Given the description of an element on the screen output the (x, y) to click on. 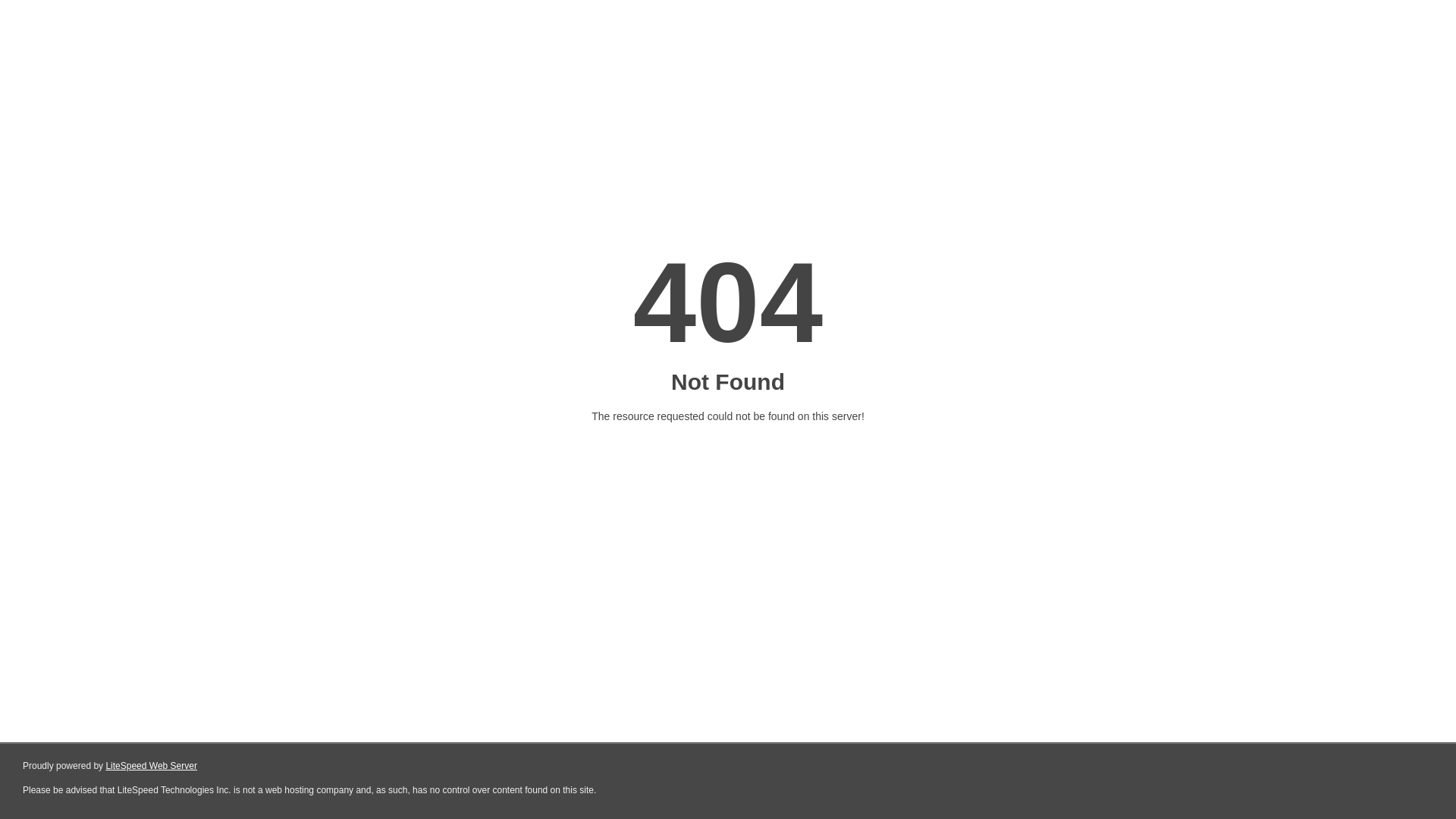
LiteSpeed Web Server Element type: text (151, 765)
